Given the description of an element on the screen output the (x, y) to click on. 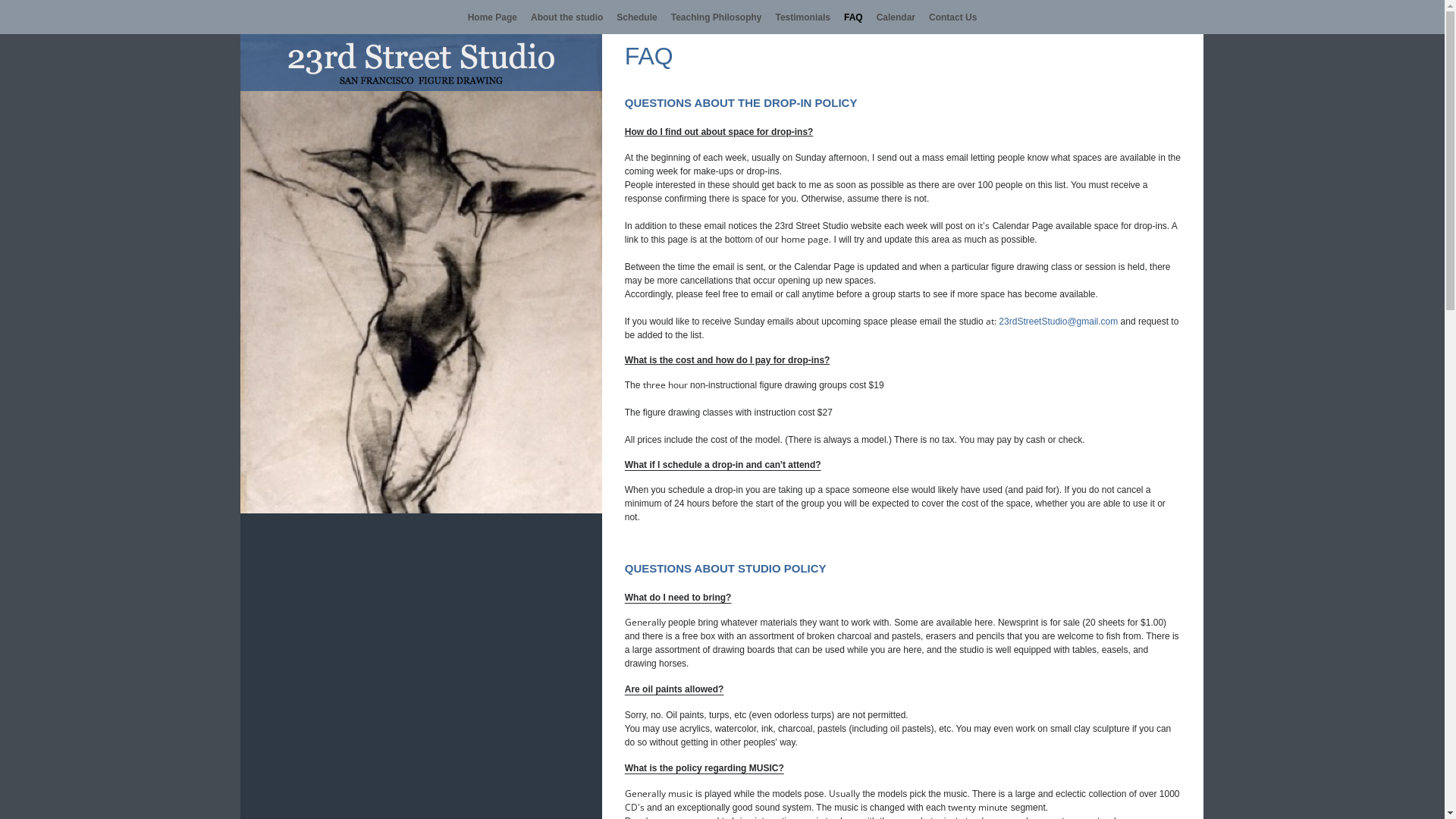
Testimonials Element type: text (802, 17)
Contact Us Element type: text (949, 17)
Teaching Philosophy Element type: text (716, 17)
Schedule Element type: text (636, 17)
About the studio Element type: text (566, 17)
Home Page Element type: text (495, 17)
FAQ Element type: text (853, 17)
Calendar Element type: text (895, 17)
